Given the description of an element on the screen output the (x, y) to click on. 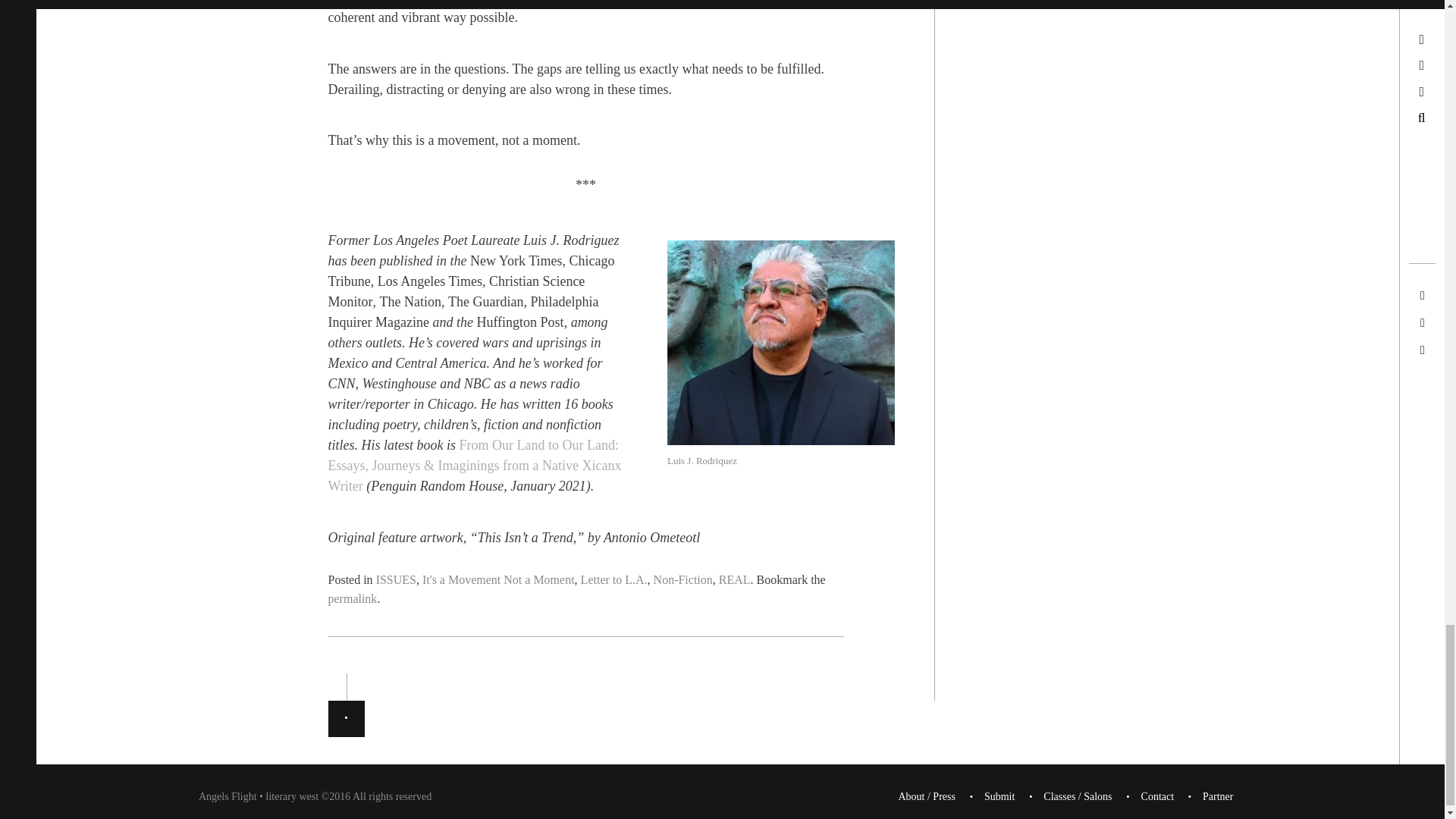
It's a Movement Not a Moment (498, 579)
Letter to L.A. (613, 579)
ISSUES (395, 579)
REAL (735, 579)
Non-Fiction (683, 579)
permalink (352, 598)
